Given the description of an element on the screen output the (x, y) to click on. 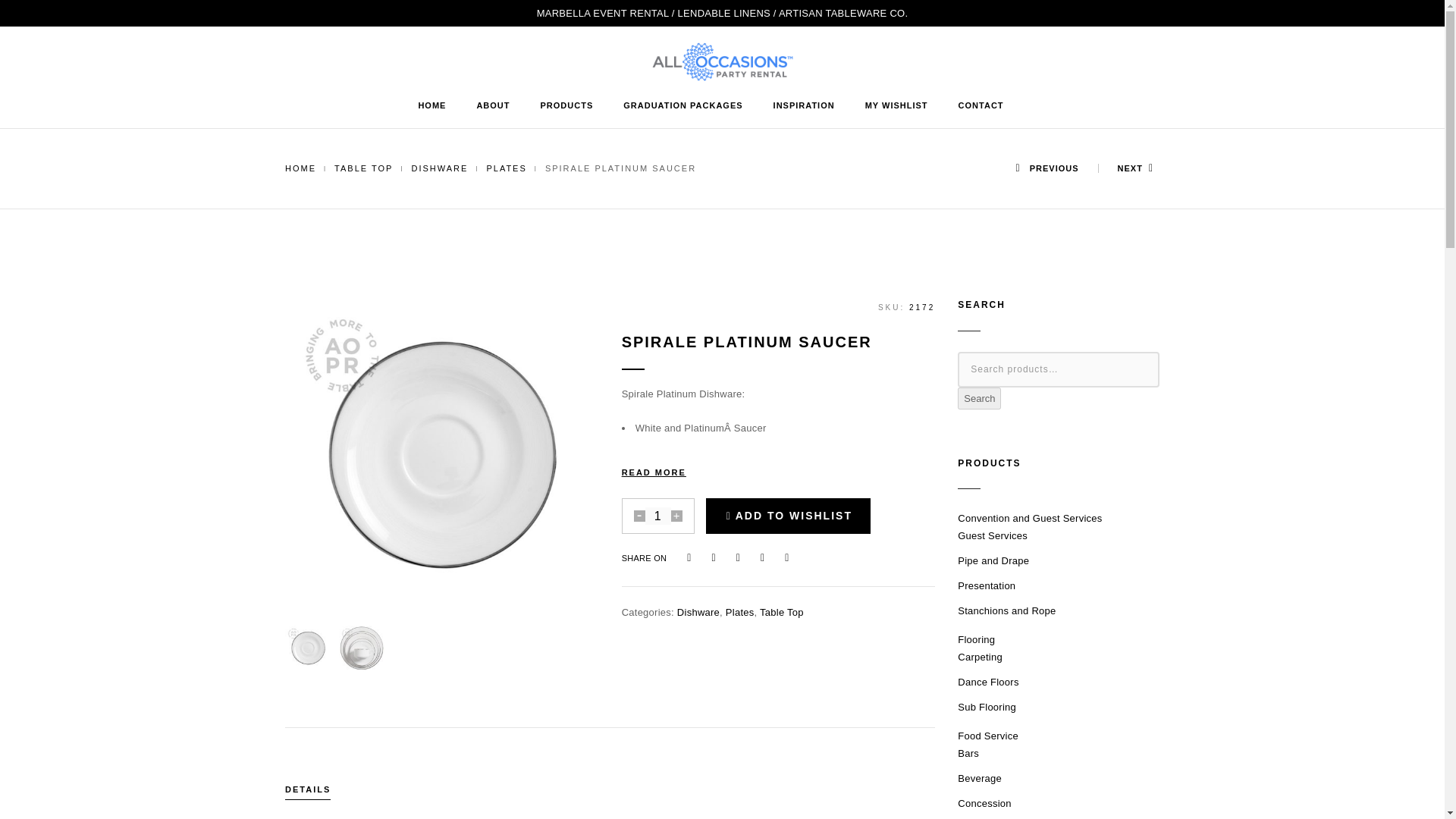
TABLE TOP (363, 167)
Qty (658, 515)
DISHWARE (438, 167)
MY WISHLIST (896, 106)
INSPIRATION (803, 106)
HOME (300, 167)
GRADUATION PACKAGES (682, 106)
PRODUCTS (567, 106)
CONTACT (981, 106)
HOME (431, 106)
Spirale-Platinum-Saucer (441, 457)
ABOUT (492, 106)
ARTISAN TABLEWARE CO. (842, 12)
1 (658, 515)
- (639, 515)
